Given the description of an element on the screen output the (x, y) to click on. 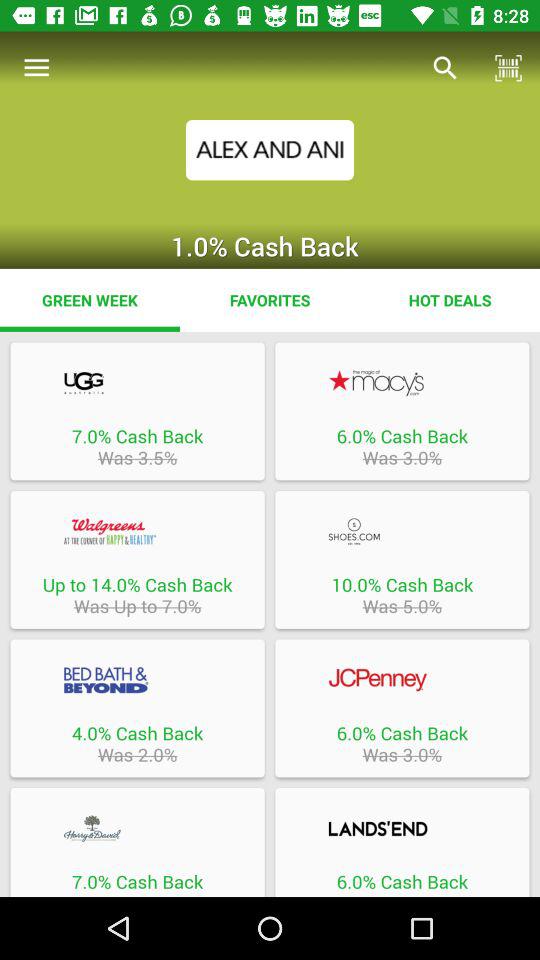
jcpenny (402, 679)
